Given the description of an element on the screen output the (x, y) to click on. 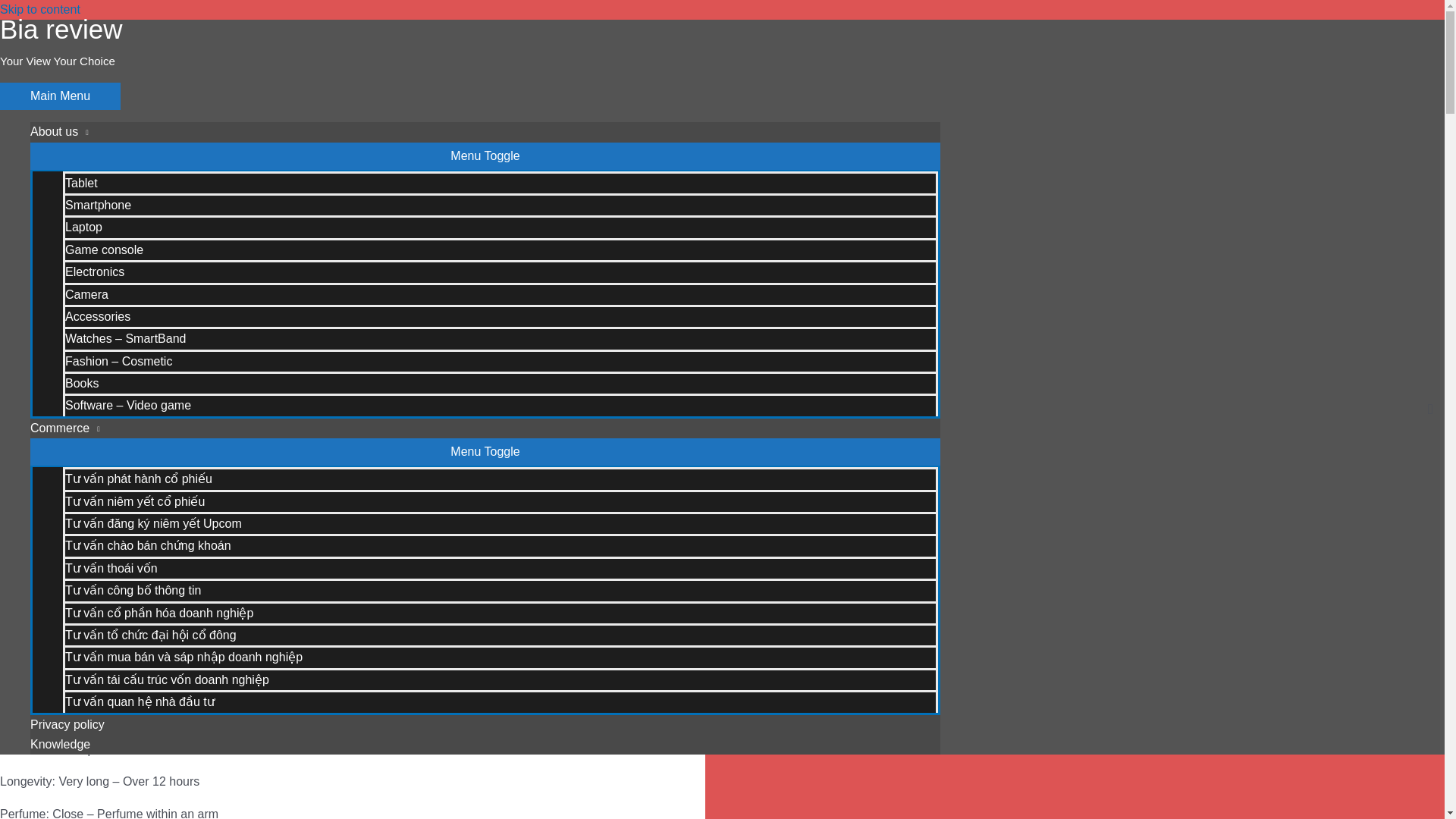
Skip to content (40, 9)
amazon JEAN DESPREZ BAL A VERSAILLES reviews (182, 422)
JEAN DESPREZ BAL A VERSAILLES 2 (352, 39)
Books (499, 382)
Smartphone (499, 204)
where can you get a JEAN DESPREZ BAL A VERSAILLES online (210, 442)
Bia review (61, 29)
Camera (499, 293)
amazon JEAN DESPREZ BAL A VERSAILLES reviews (182, 422)
Accessories (499, 315)
